Given the description of an element on the screen output the (x, y) to click on. 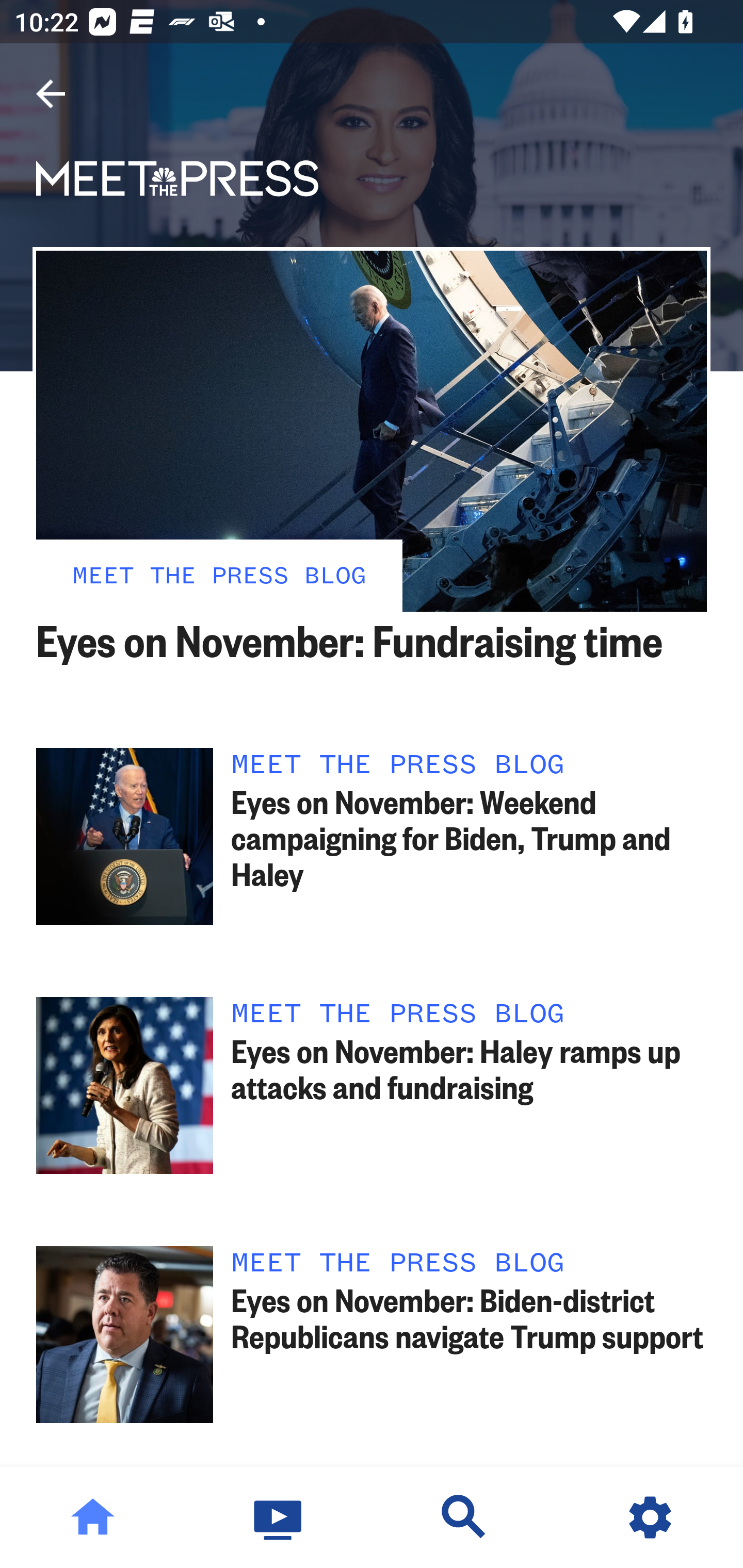
Navigate up (50, 93)
Watch (278, 1517)
Discover (464, 1517)
Settings (650, 1517)
